Given the description of an element on the screen output the (x, y) to click on. 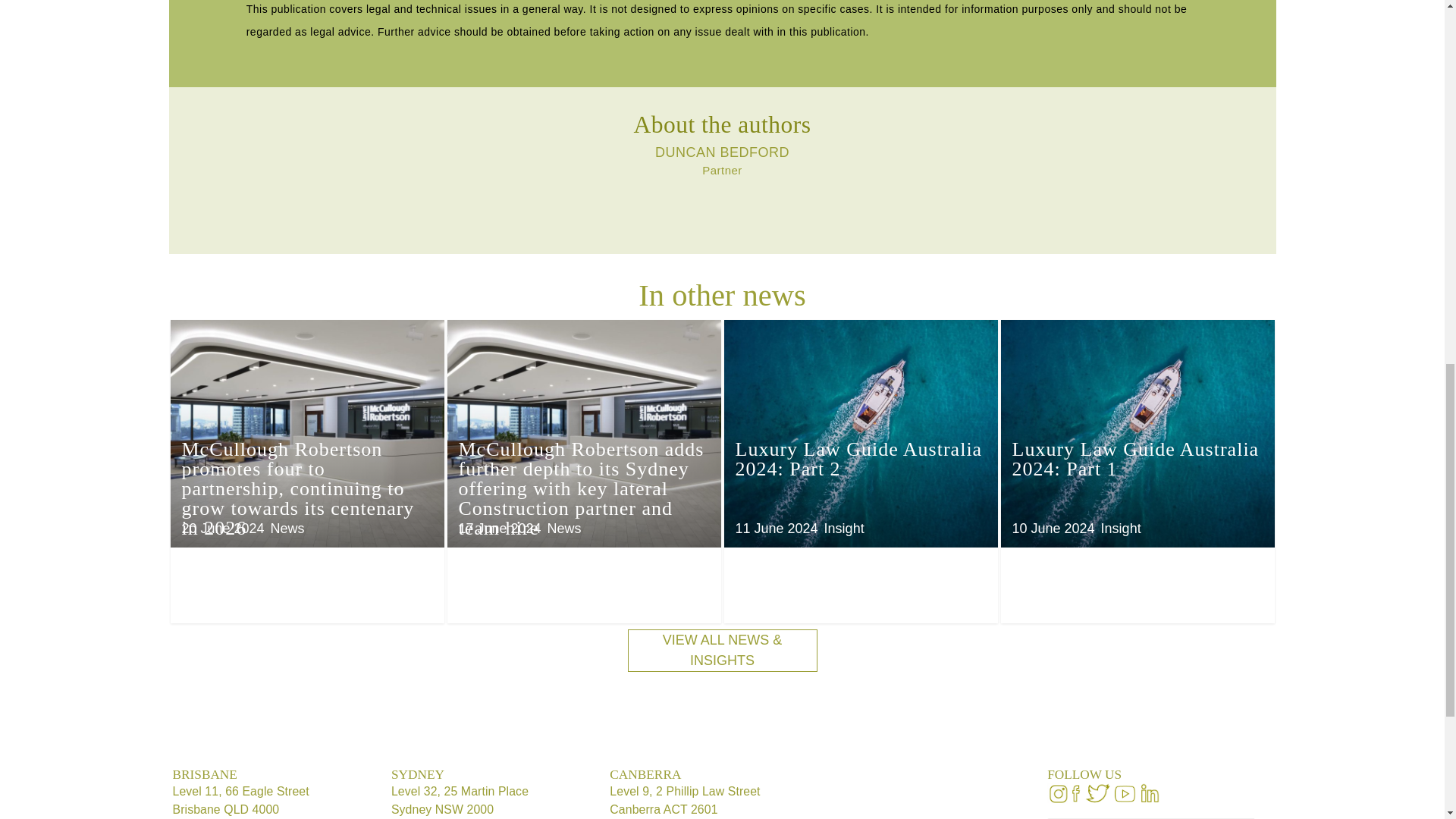
Thursday, June, 2024, 10:15 am (223, 528)
News (287, 528)
Monday, June, 2024, 8:54 am (499, 528)
DUNCAN BEDFORD (722, 151)
Luxury Law Guide Australia 2024: Part 1 (1135, 458)
Monday, June, 2024, 3:22 pm (1052, 528)
Tuesday, June, 2024, 9:00 am (776, 528)
Luxury Law Guide Australia 2024: Part 2 (858, 458)
